Given the description of an element on the screen output the (x, y) to click on. 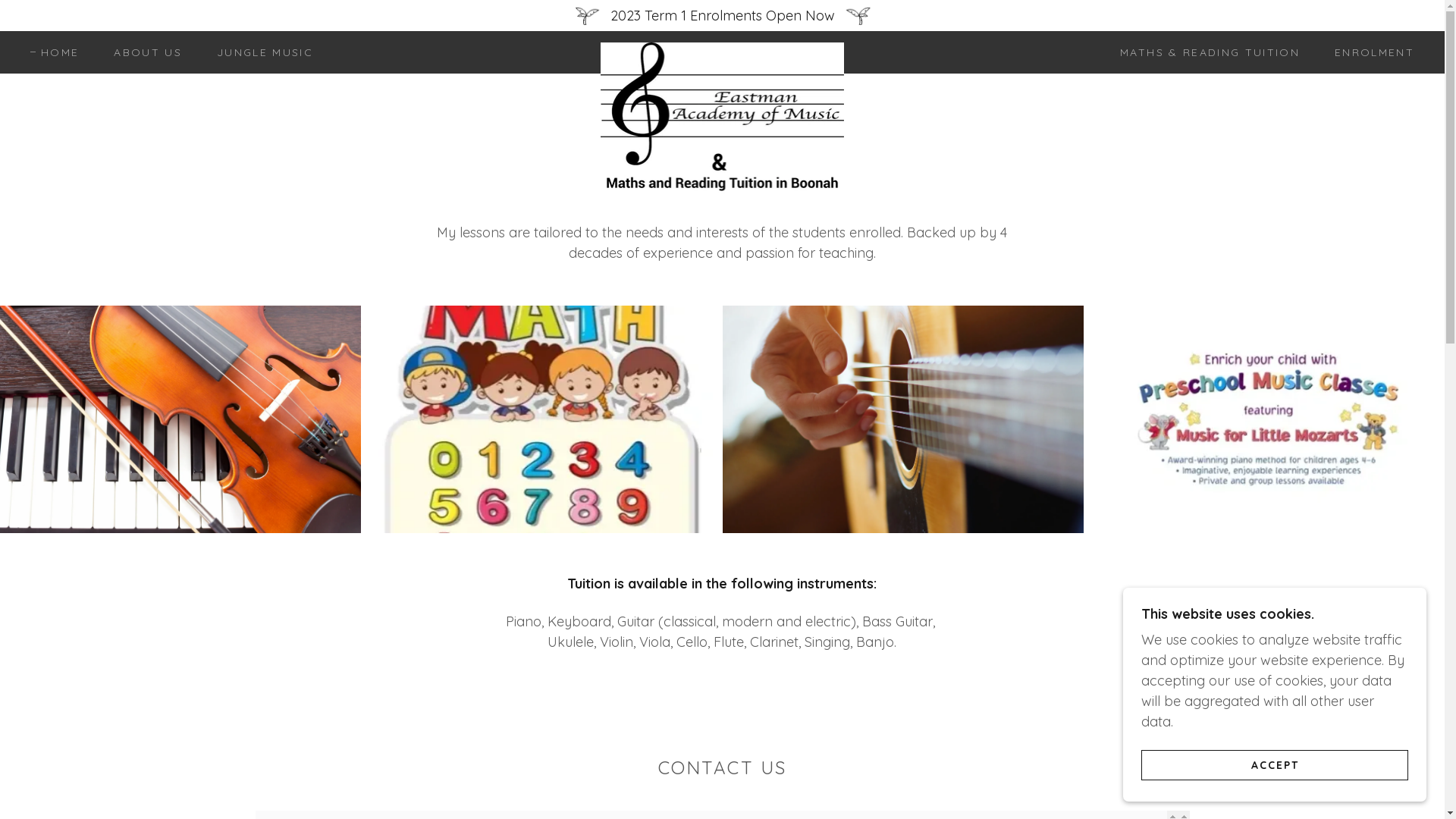
ABOUT US Element type: text (142, 51)
HOME Element type: text (54, 52)
ENROLMENT Element type: text (1368, 51)
ACCEPT Element type: text (1274, 764)
MATHS & READING TUITION Element type: text (1204, 51)
JUNGLE MUSIC Element type: text (259, 51)
